Given the description of an element on the screen output the (x, y) to click on. 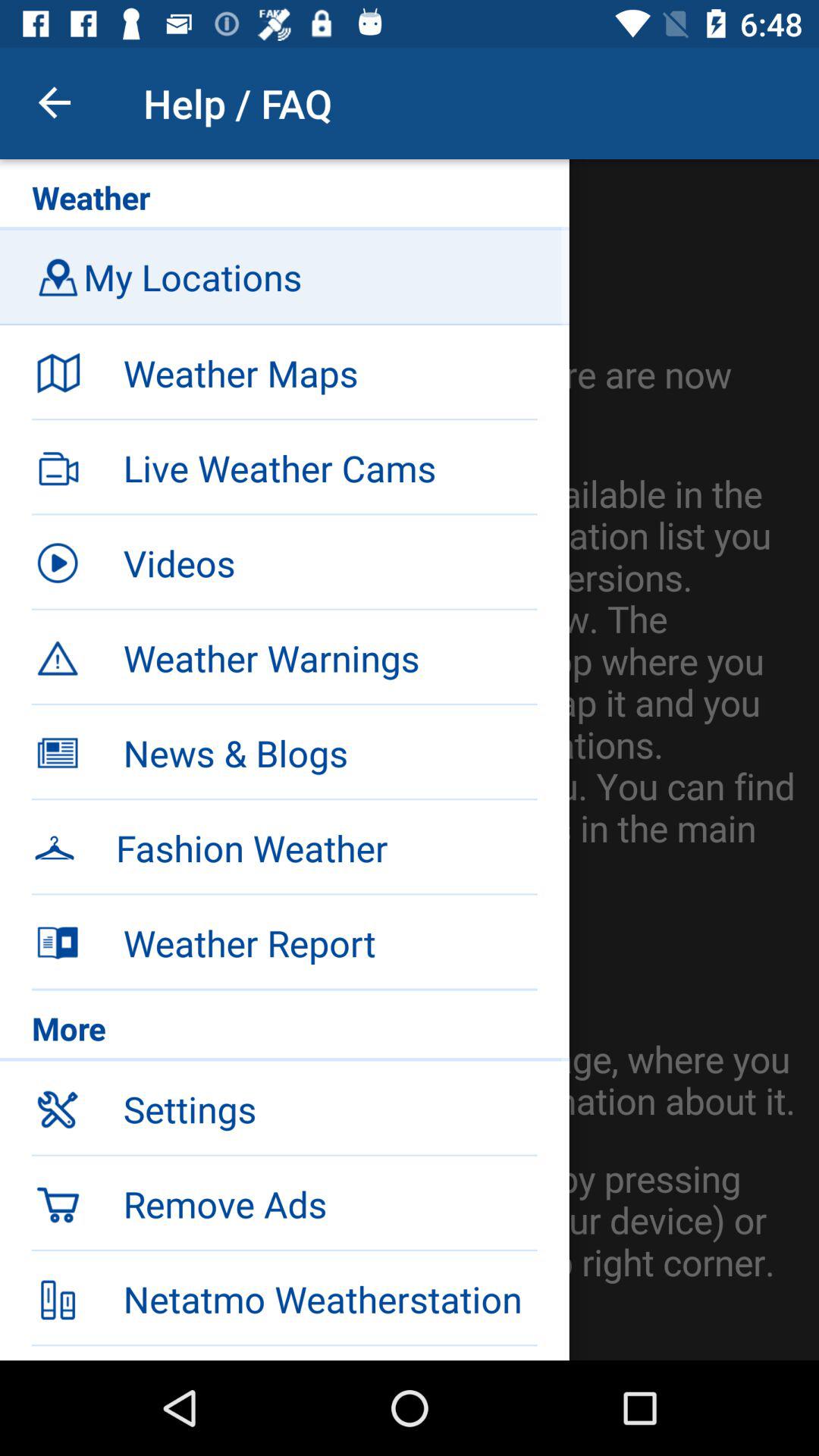
choose the item below the videos (284, 655)
